Given the description of an element on the screen output the (x, y) to click on. 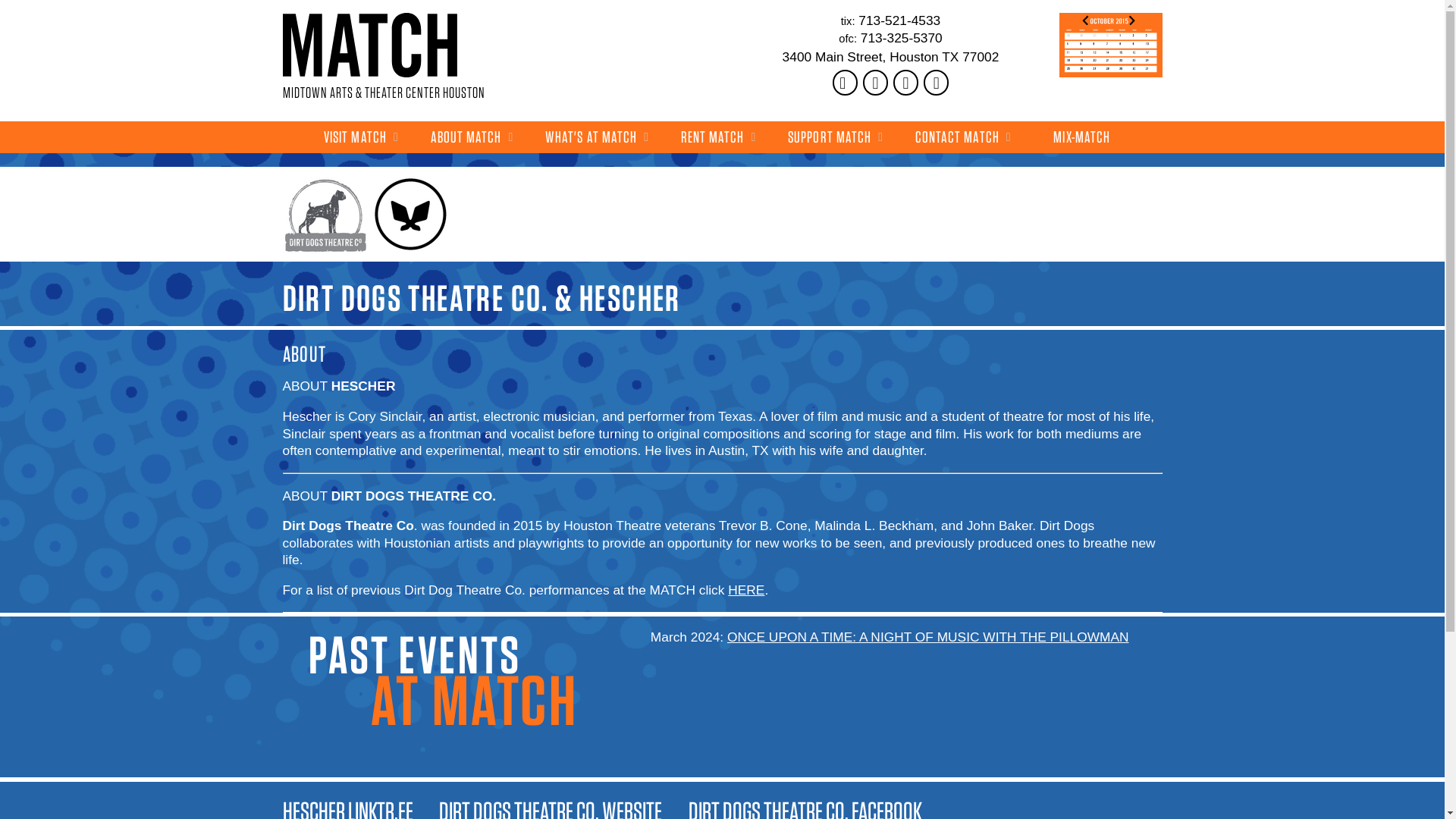
Follow MATCH on Facebook (845, 82)
WHAT'S AT MATCH (596, 136)
ABOUT MATCH (471, 136)
CONTACT MATCH (963, 136)
Follow MATCH on Twitter (905, 82)
SUPPORT MATCH (835, 136)
MATCH Home (369, 44)
